Given the description of an element on the screen output the (x, y) to click on. 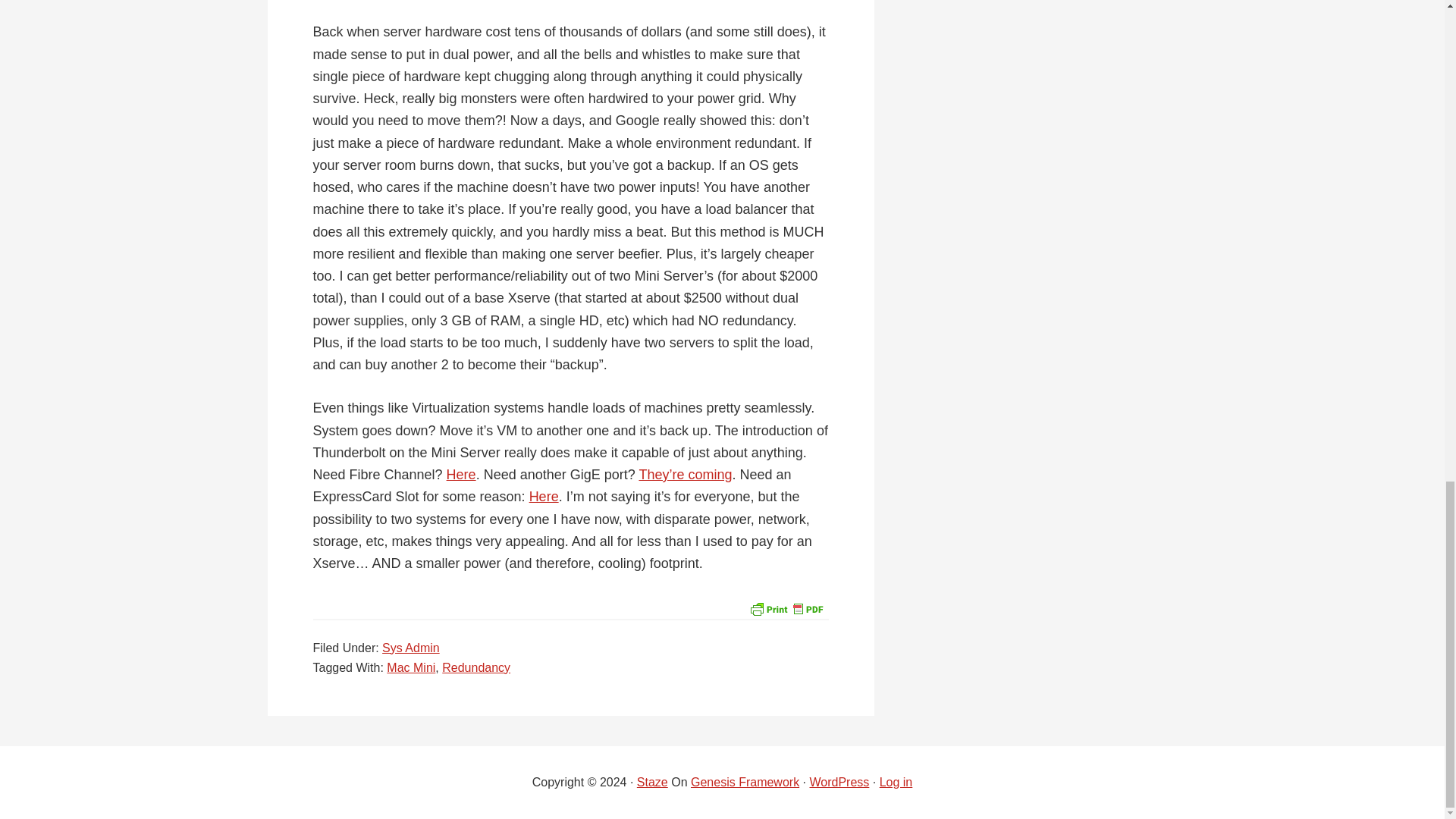
Redundancy (476, 667)
Sys Admin (410, 647)
Here (461, 474)
Mac Mini (411, 667)
Here (544, 496)
